Given the description of an element on the screen output the (x, y) to click on. 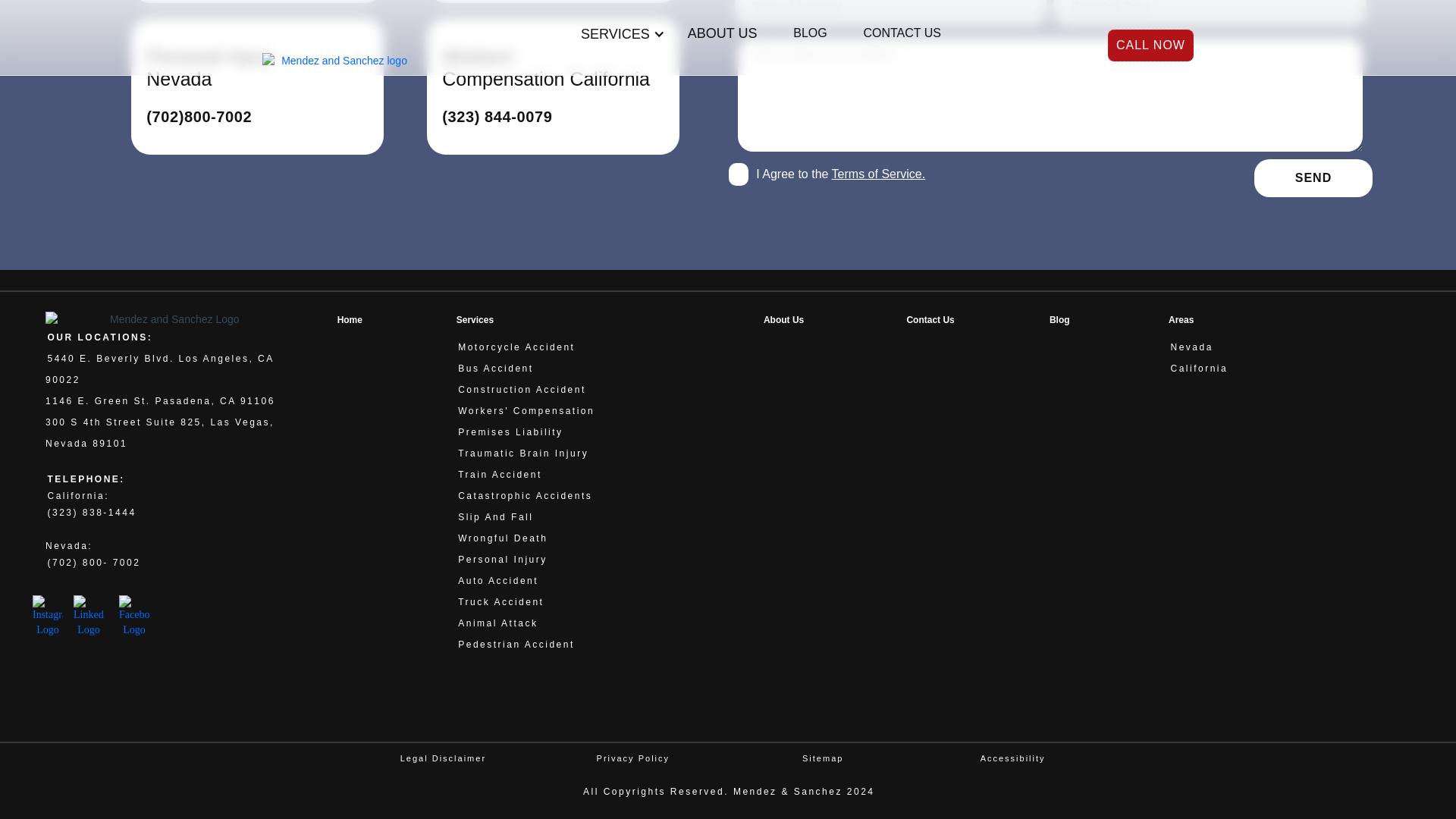
SEND (1313, 177)
